Given the description of an element on the screen output the (x, y) to click on. 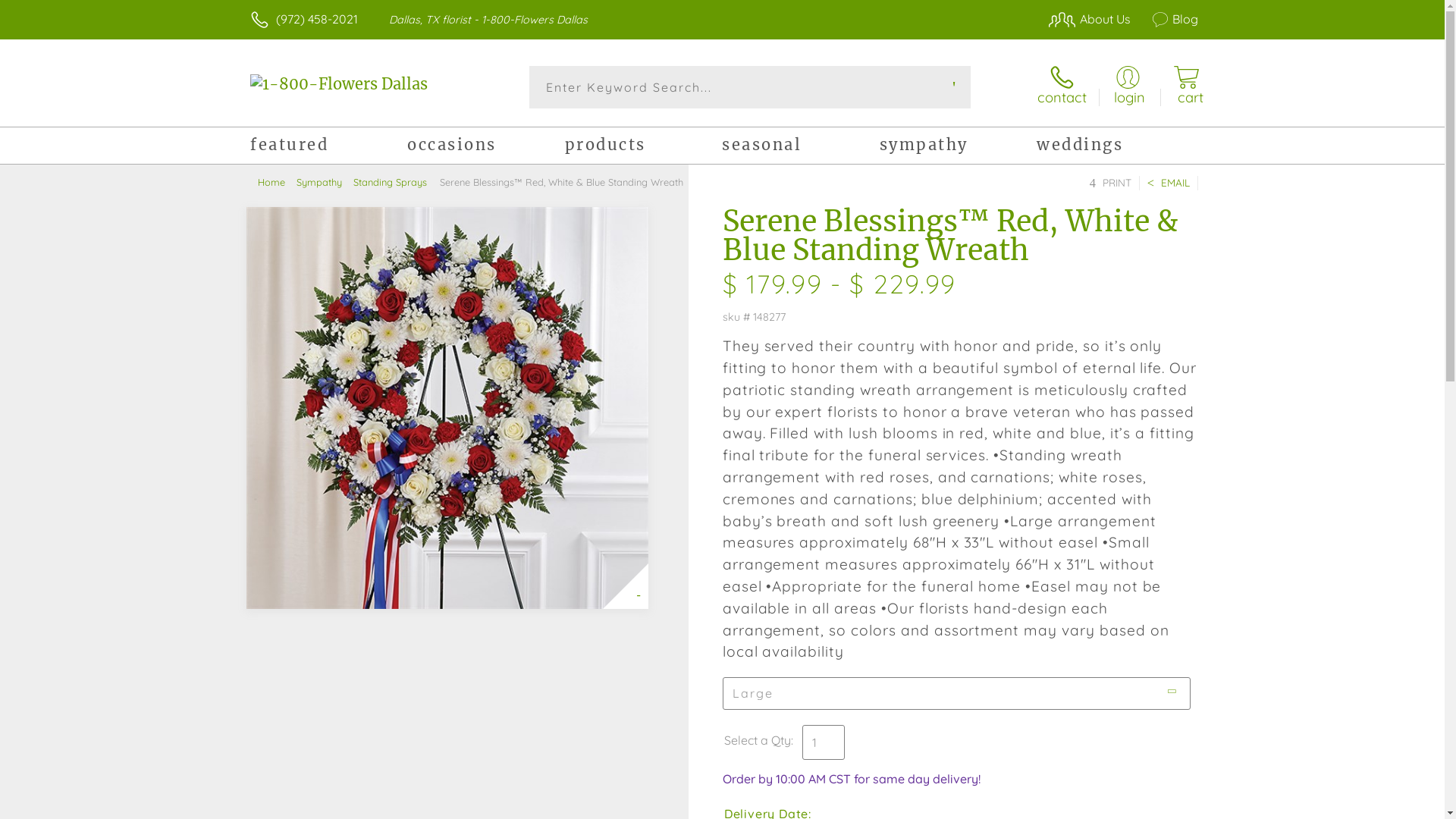
EMAIL Element type: text (1168, 182)
cart Element type: text (1186, 85)
(972) 458-2021 Element type: text (316, 18)
login or register
login Element type: text (1127, 85)
Standing Sprays Element type: text (395, 181)
products Element type: text (642, 147)
contact Element type: text (1061, 85)
Blog Element type: text (1165, 18)
seasonal Element type: text (799, 147)
Enter Keyword Search... Element type: hover (750, 86)
About Us Element type: text (1081, 18)
Sympathy Element type: text (324, 181)
featured Element type: text (328, 147)
PRINT Element type: text (1110, 182)
sympathy Element type: text (957, 147)
weddings Element type: text (1114, 147)
Home Element type: text (276, 181)
occasions Element type: text (485, 147)
